Given the description of an element on the screen output the (x, y) to click on. 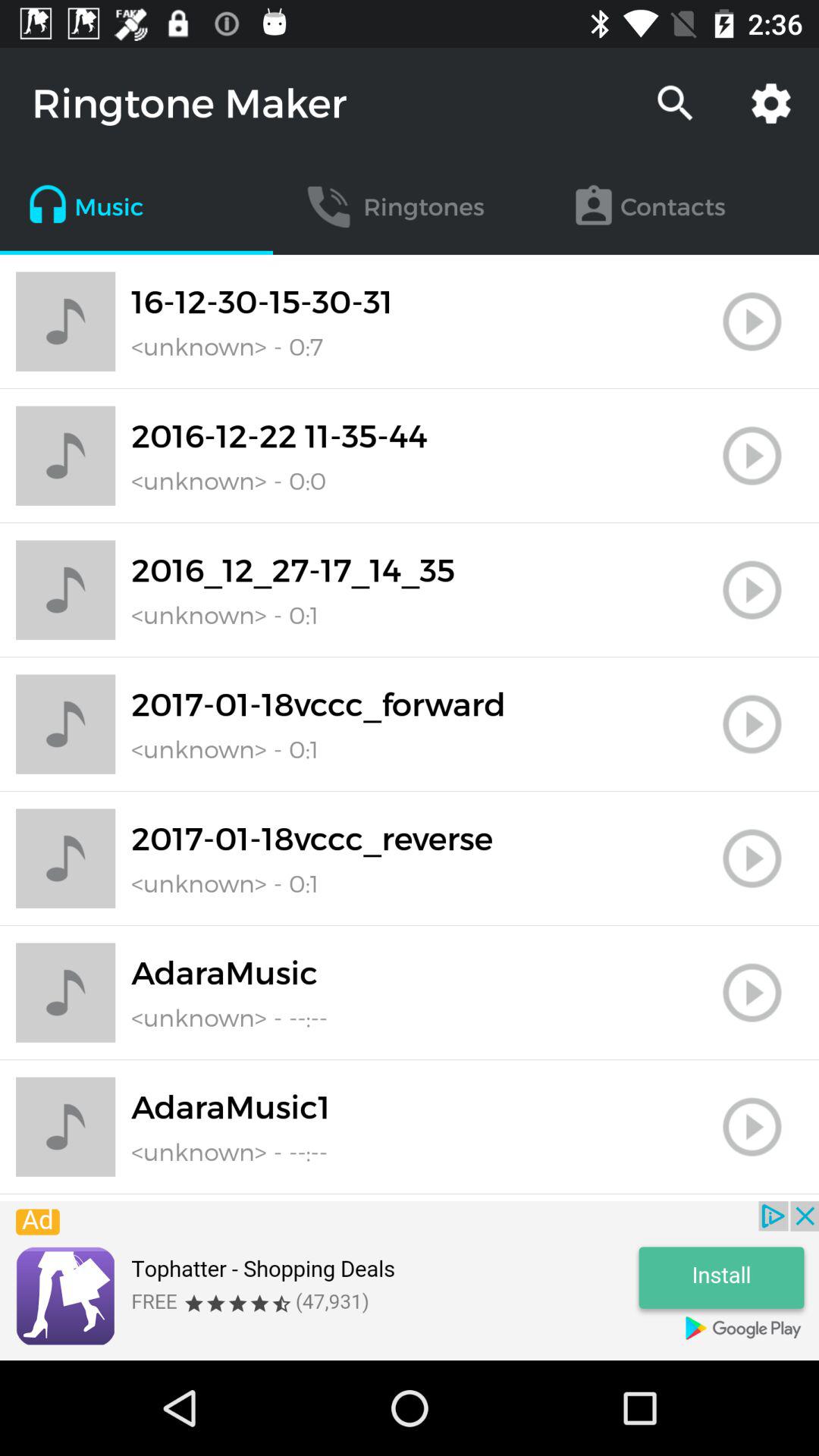
listen music (752, 858)
